Given the description of an element on the screen output the (x, y) to click on. 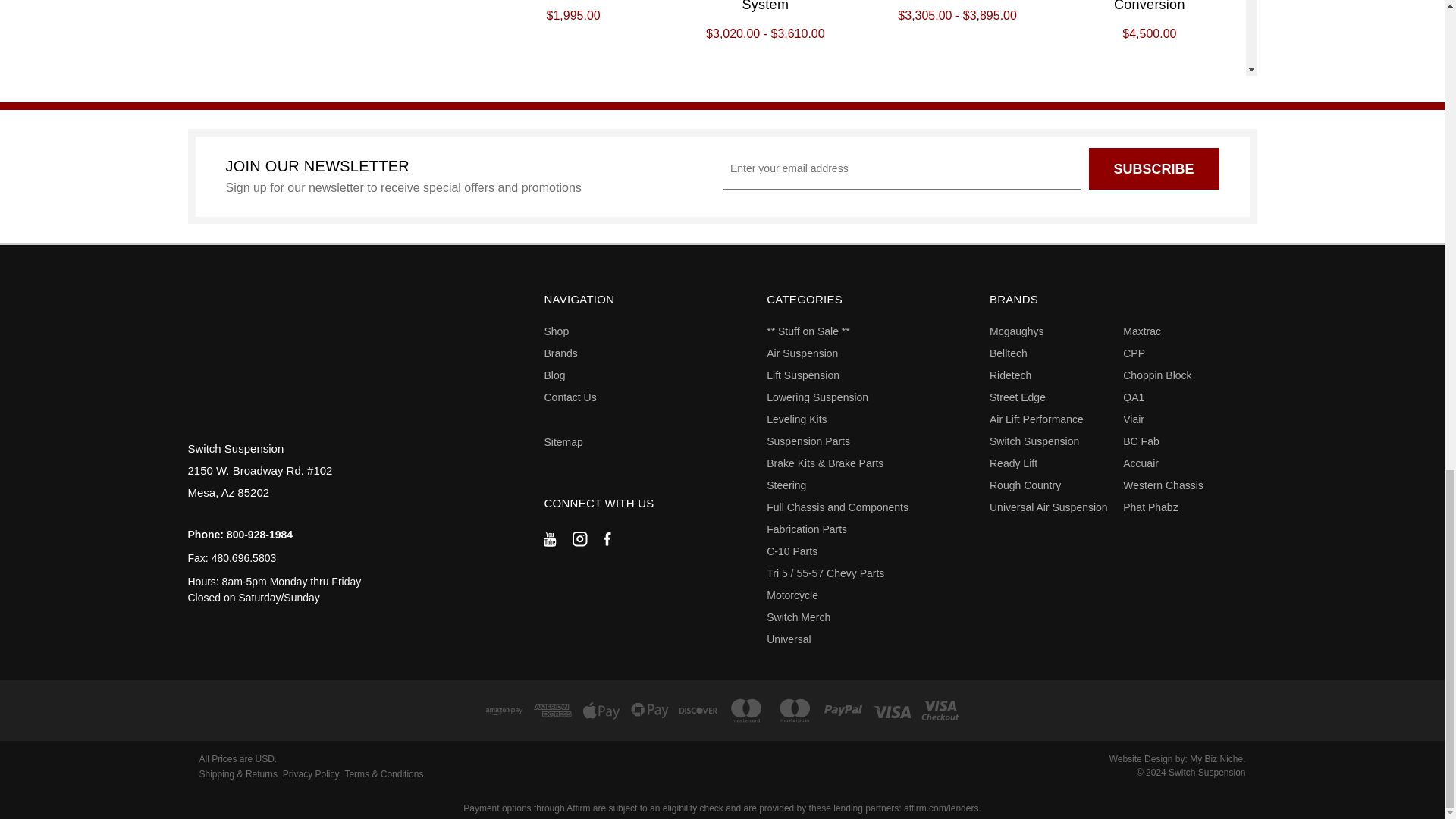
Subscribe (1154, 168)
